Given the description of an element on the screen output the (x, y) to click on. 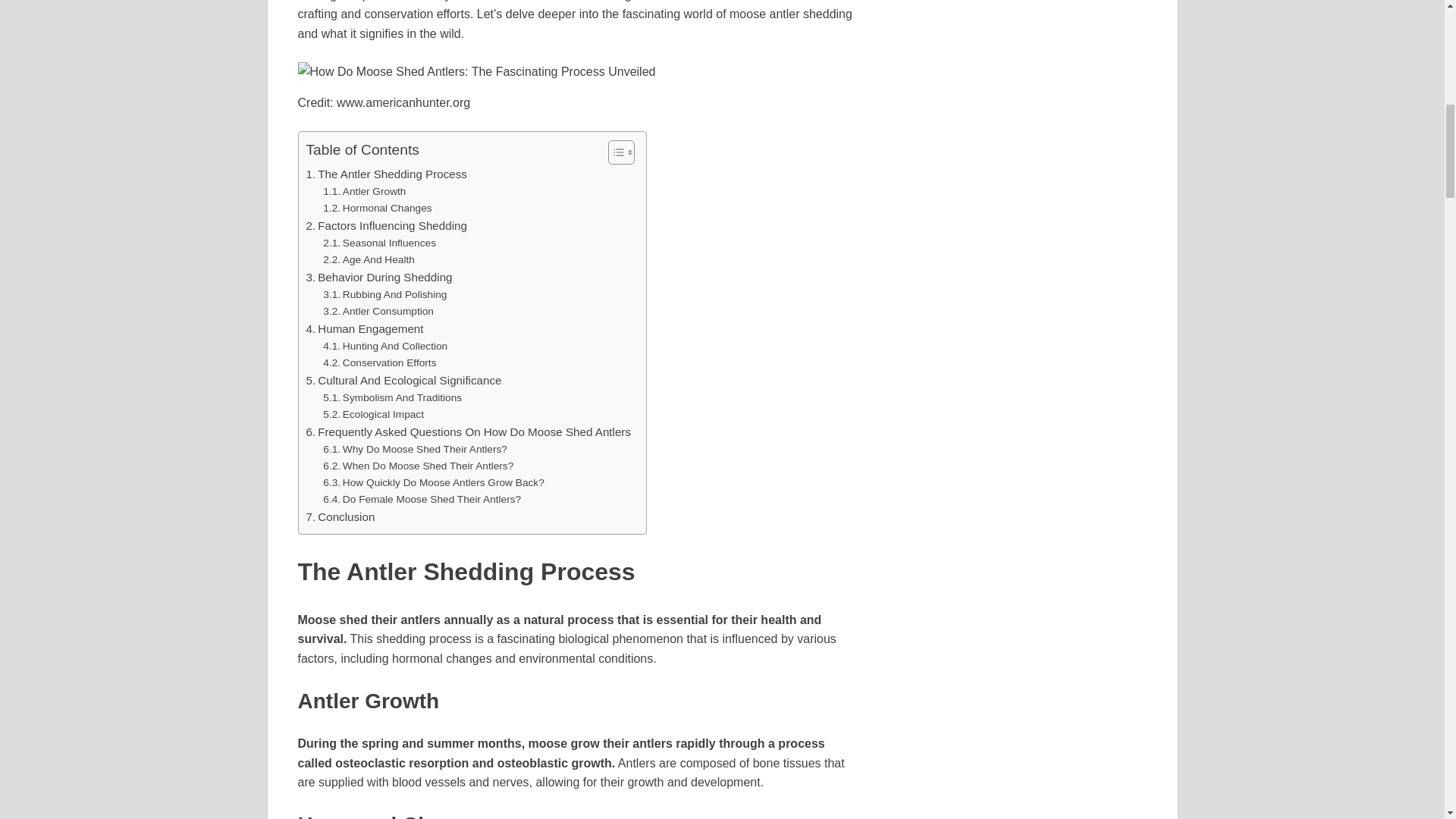
Ecological Impact (373, 414)
Behavior During Shedding (378, 277)
Conservation Efforts (379, 362)
Antler Growth (364, 191)
The Antler Shedding Process (386, 174)
Hormonal Changes (376, 208)
Rubbing And Polishing (384, 294)
Why Do Moose Shed Their Antlers? (414, 449)
Hunting And Collection (384, 346)
Conservation Efforts (379, 362)
Age And Health (368, 259)
Human Engagement (364, 329)
Antler Consumption (378, 311)
Cultural And Ecological Significance (403, 380)
Hunting And Collection (384, 346)
